Given the description of an element on the screen output the (x, y) to click on. 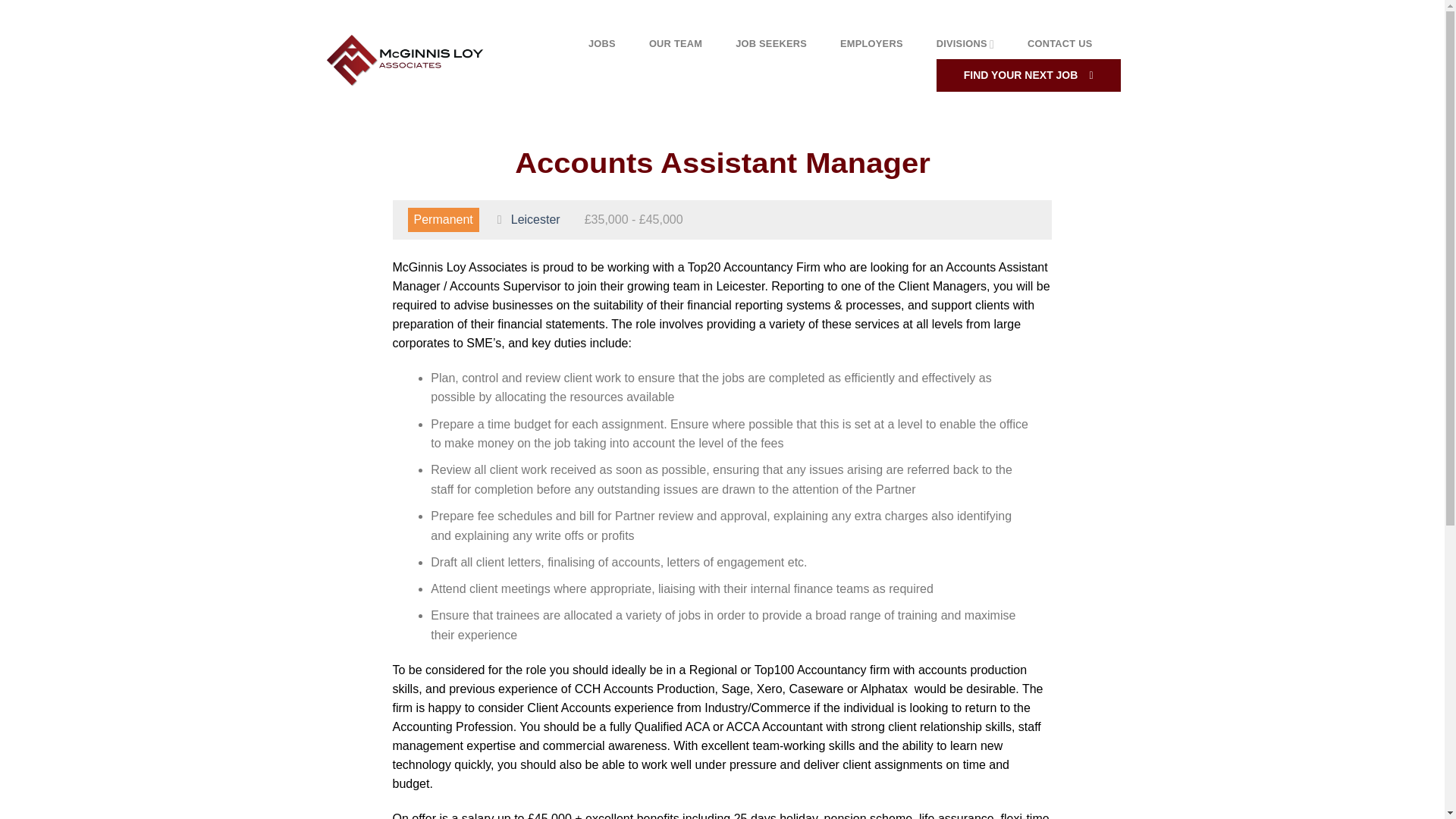
JOBS (601, 43)
McGinnis Loy (404, 59)
Leicester (535, 219)
DIVISIONS (965, 43)
JOB SEEKERS (770, 43)
OUR TEAM (675, 43)
CONTACT US (1060, 43)
FIND YOUR NEXT JOB (1028, 75)
EMPLOYERS (871, 43)
